Given the description of an element on the screen output the (x, y) to click on. 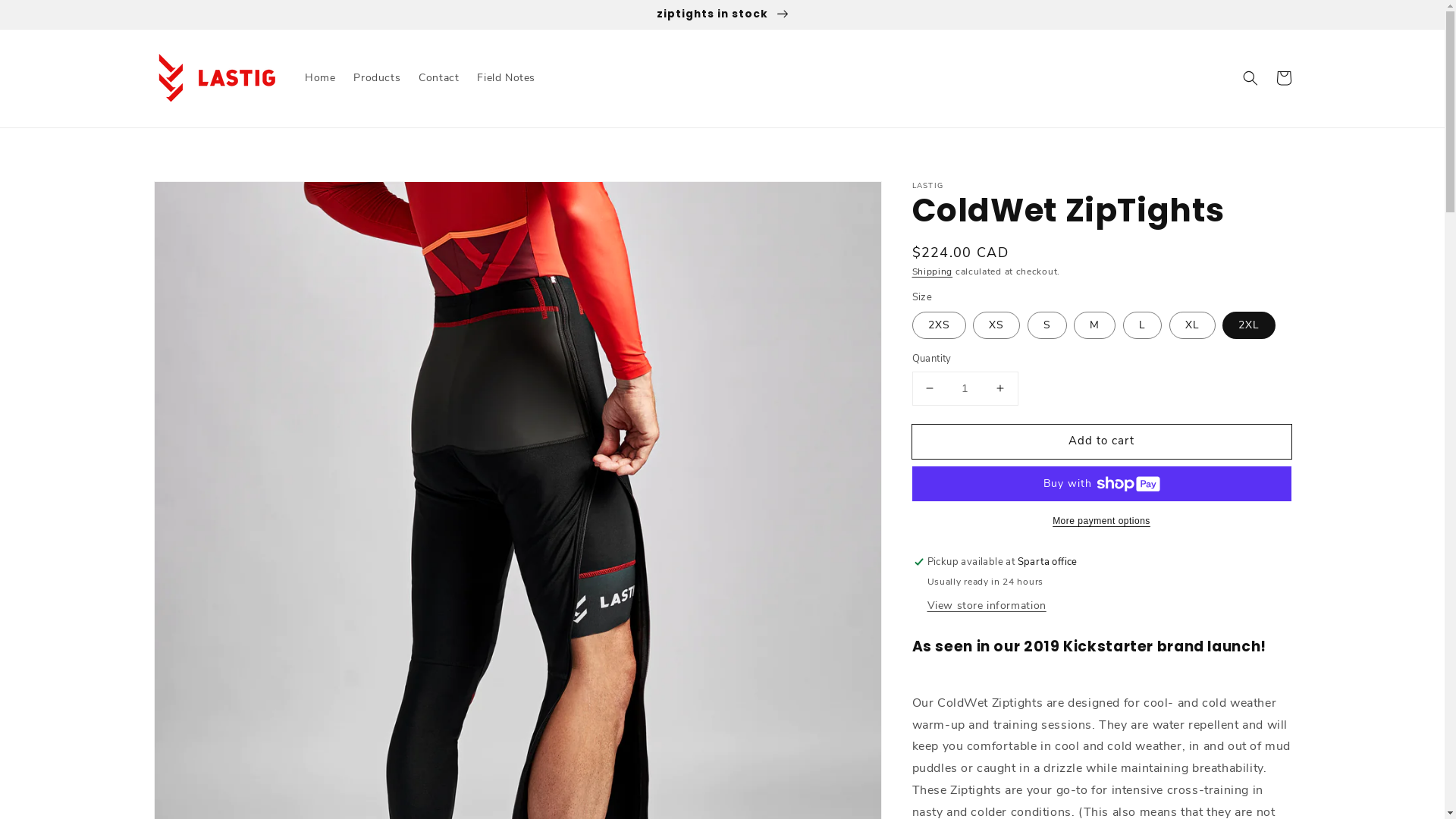
Home Element type: text (319, 78)
More payment options Element type: text (1100, 520)
Products Element type: text (376, 78)
Decrease quantity for ColdWet ZipTights Element type: text (930, 388)
Increase quantity for ColdWet ZipTights Element type: text (999, 388)
ziptights in stock Element type: text (722, 14)
Shipping Element type: text (931, 271)
Contact Element type: text (438, 78)
Add to cart Element type: text (1100, 441)
Cart Element type: text (1282, 77)
Field Notes Element type: text (505, 78)
View store information Element type: text (985, 606)
Skip to product information Element type: text (198, 197)
